Given the description of an element on the screen output the (x, y) to click on. 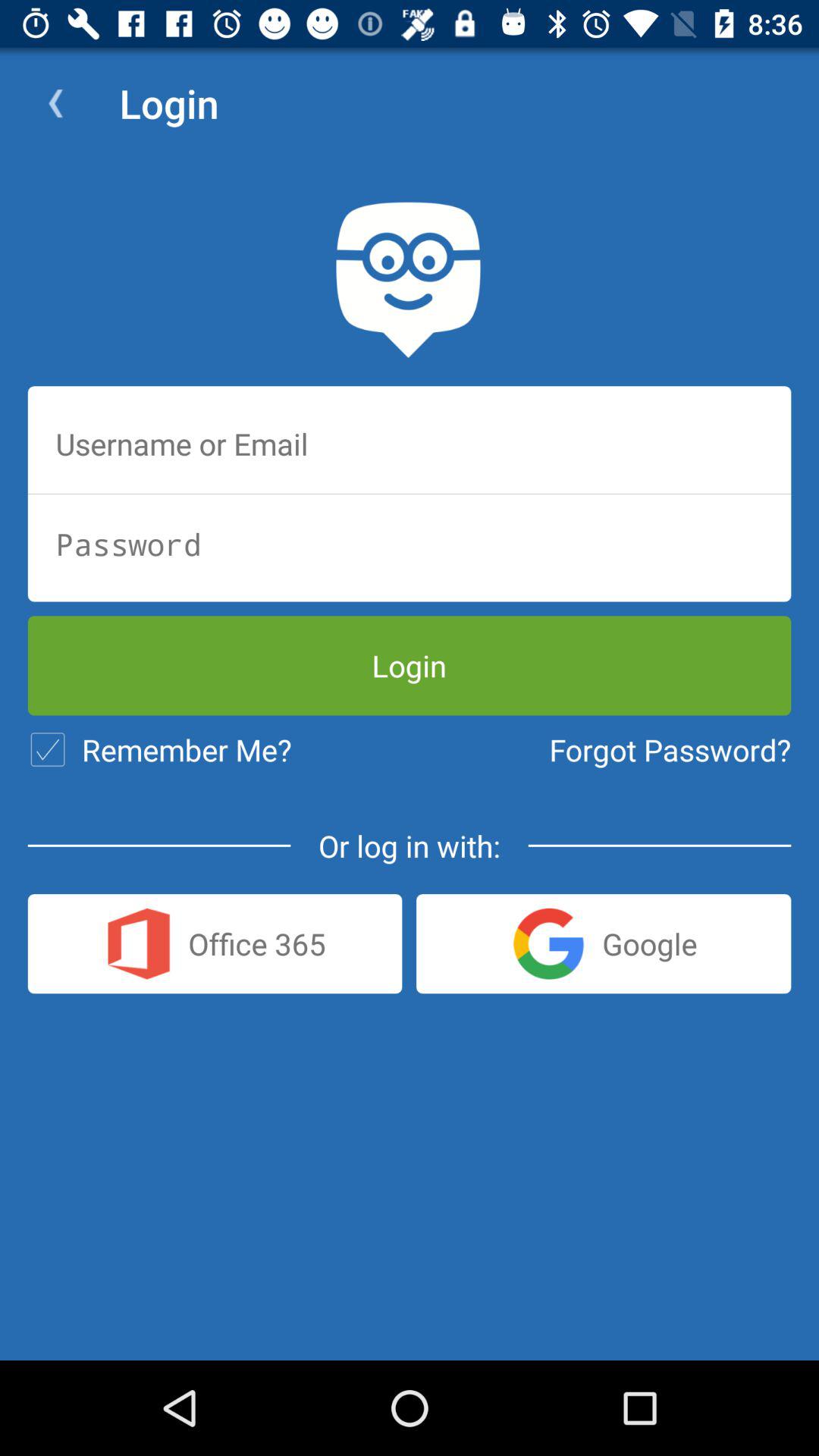
enter password (409, 543)
